Given the description of an element on the screen output the (x, y) to click on. 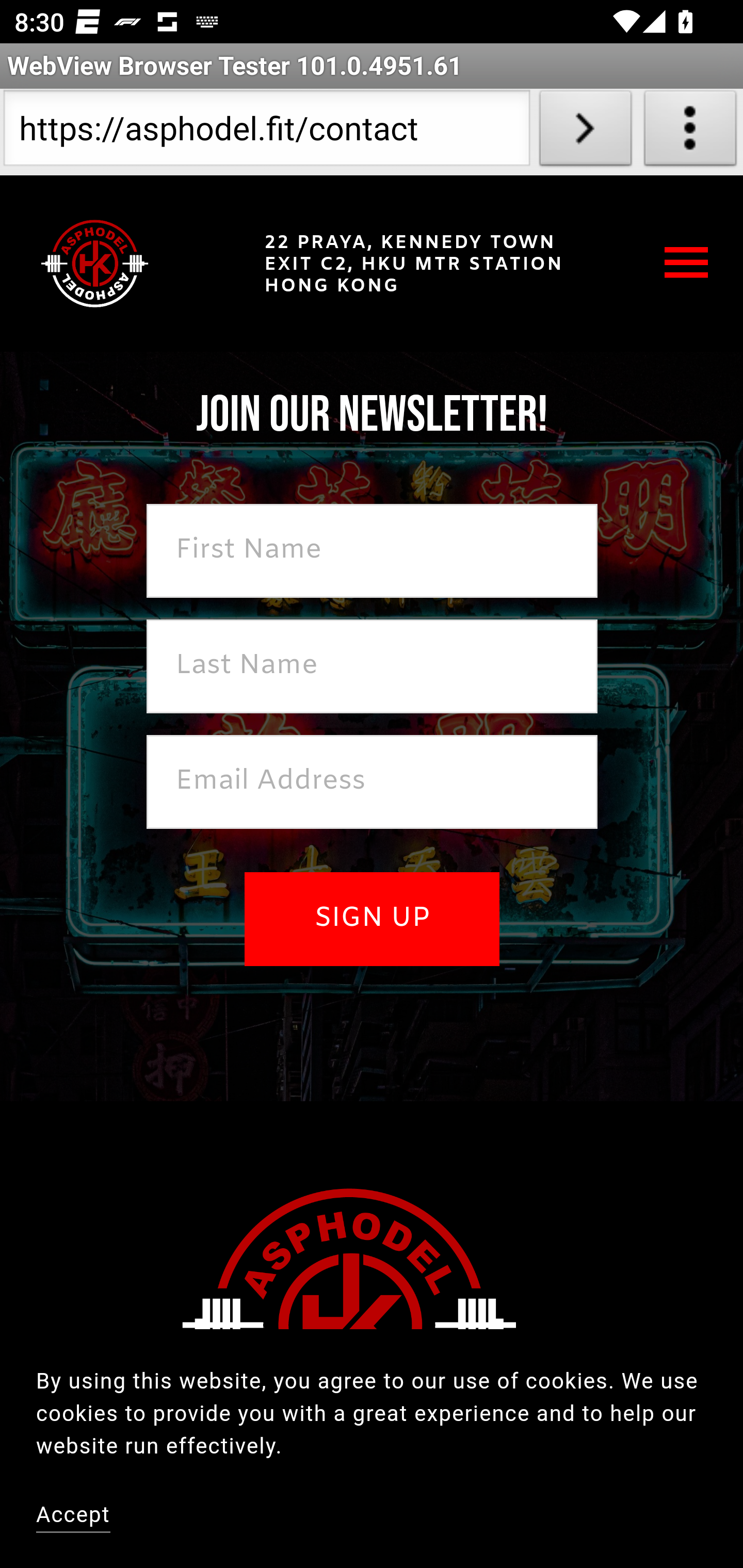
https://asphodel.fit/contact (266, 132)
Load URL (585, 132)
About WebView (690, 132)
Asphodel Fitness (95, 263)
Open navigation menu (686, 263)
SIGN UP (371, 918)
Accept (74, 1517)
